Given the description of an element on the screen output the (x, y) to click on. 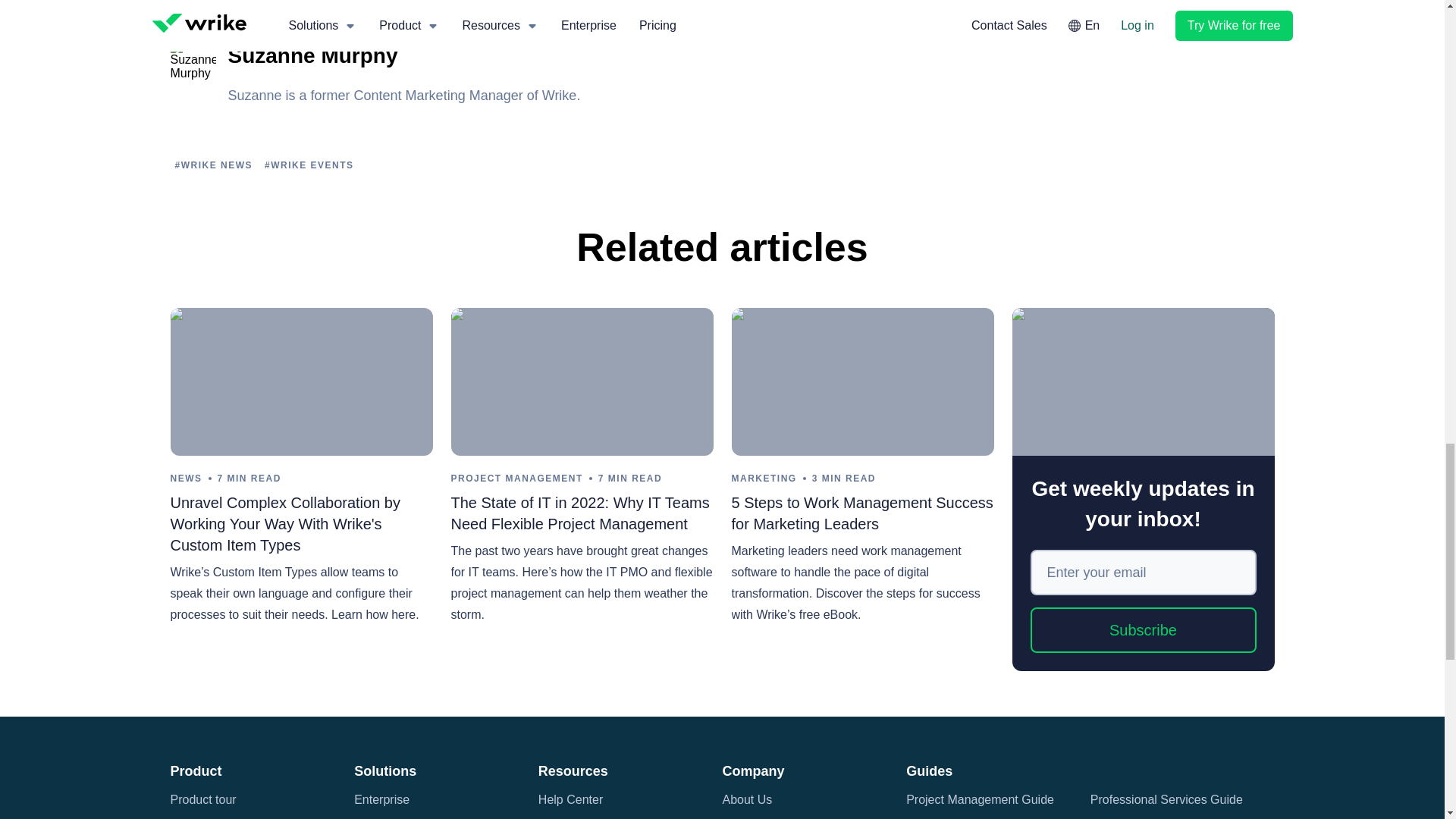
Pricing (188, 815)
Marketing (380, 815)
Product tour (202, 799)
Enterprise (381, 799)
